Given the description of an element on the screen output the (x, y) to click on. 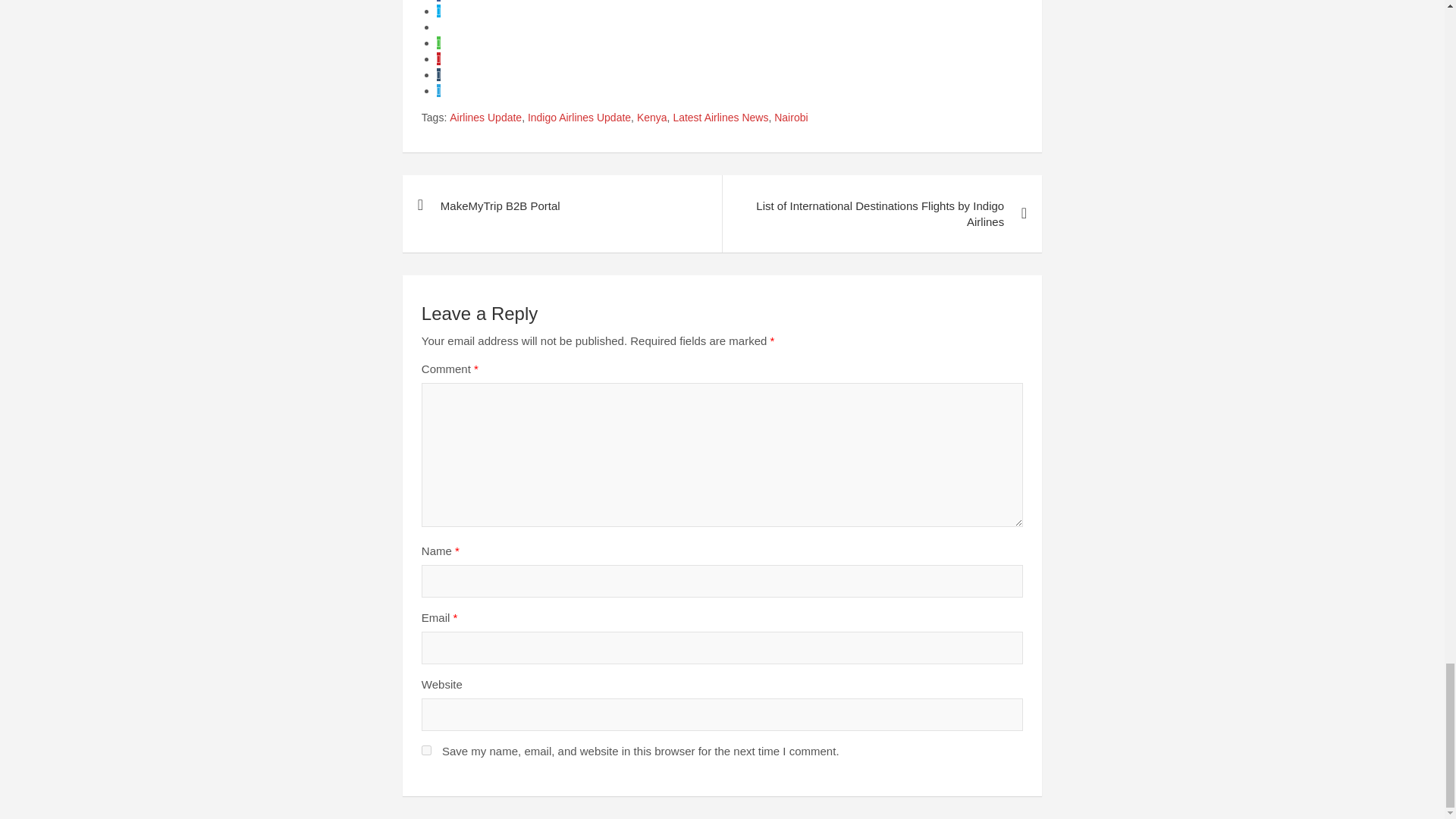
Indigo Airlines Update (578, 118)
Airlines Update (485, 118)
Kenya (651, 118)
yes (426, 750)
